Given the description of an element on the screen output the (x, y) to click on. 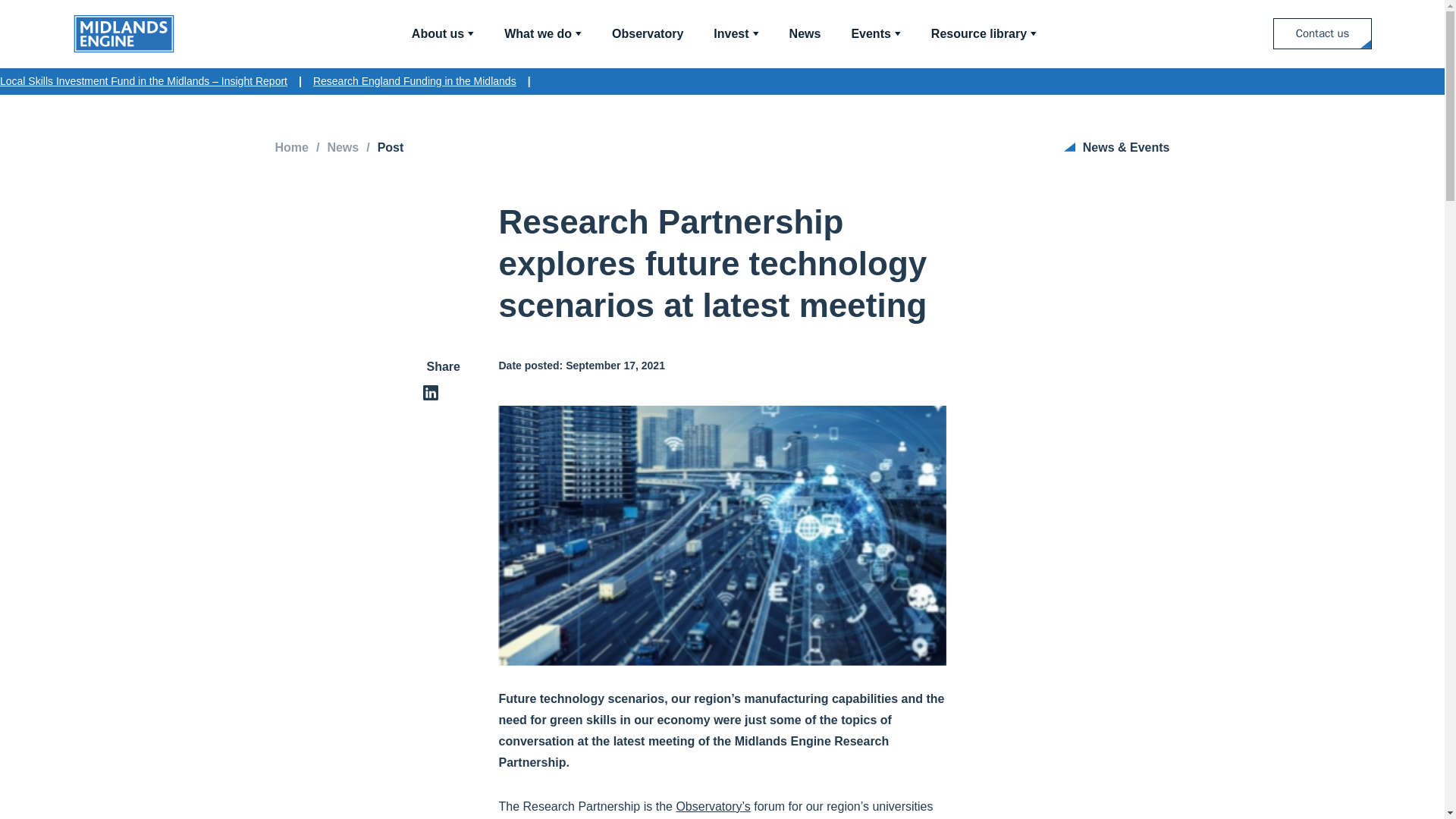
What we do (541, 33)
News (805, 33)
Research England Funding in the Midlands (414, 81)
Resource library (983, 33)
Contact us (1321, 33)
Events (874, 33)
Invest (735, 33)
About us (443, 33)
Observatory (646, 33)
